Given the description of an element on the screen output the (x, y) to click on. 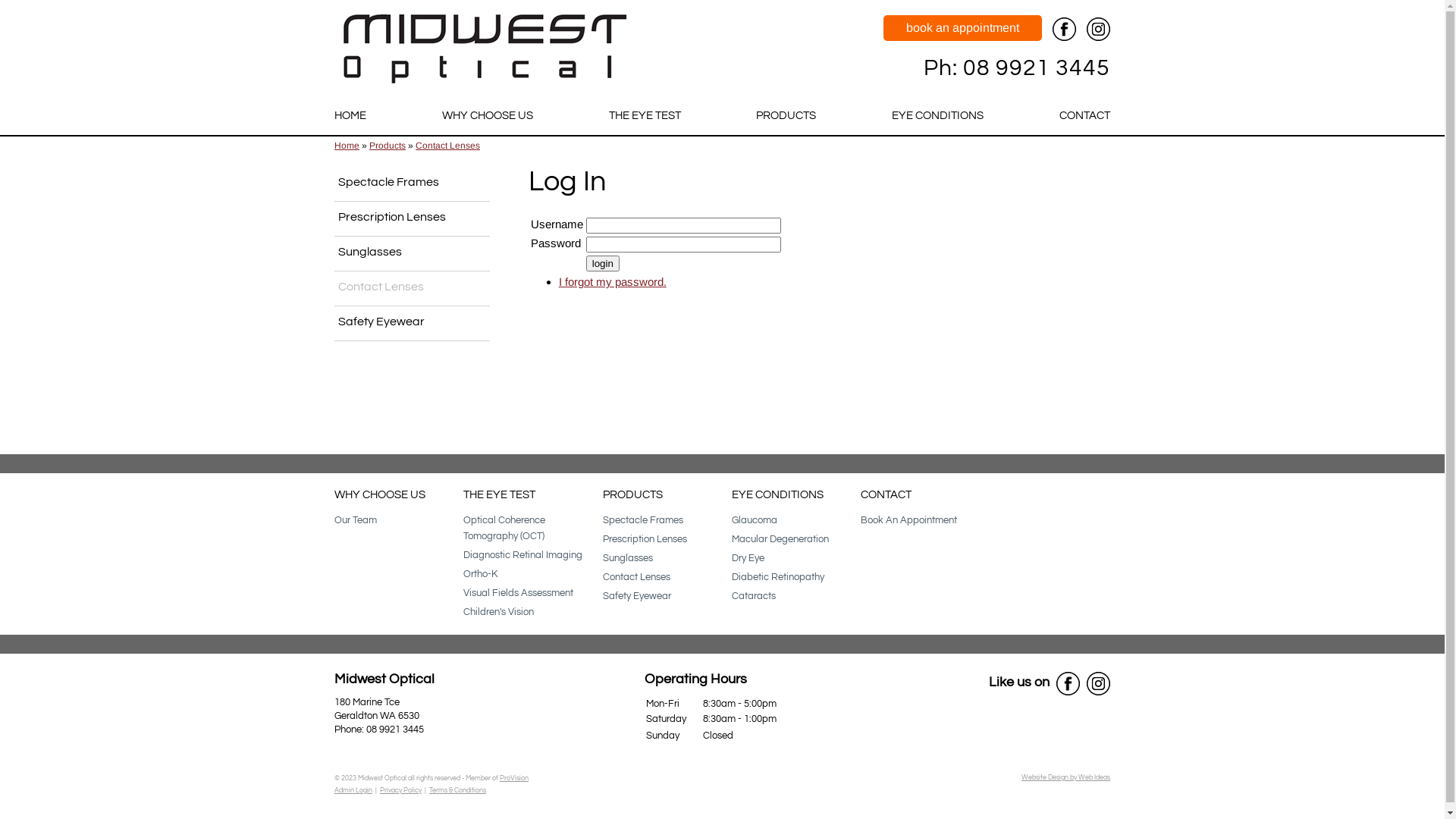
Prescription Lenses Element type: text (644, 538)
Home Element type: text (346, 145)
Cataracts Element type: text (753, 595)
Diagnostic Retinal Imaging Element type: text (522, 554)
Admin Login Element type: text (353, 790)
Our Team Element type: text (355, 519)
Children's Vision Element type: text (498, 611)
Sunglasses Element type: text (627, 557)
Safety Eyewear Element type: text (636, 595)
Prescription Lenses Element type: text (411, 218)
Visual Fields Assessment Element type: text (518, 592)
login Element type: text (602, 263)
Spectacle Frames Element type: text (411, 183)
Ortho-K Element type: text (480, 573)
Optical Coherence Tomography (OCT) Element type: text (504, 527)
WHY CHOOSE US Element type: text (487, 115)
THE EYE TEST Element type: text (644, 115)
Privacy Policy Element type: text (400, 790)
PRODUCTS Element type: text (632, 494)
08 9921 3445 Element type: text (394, 729)
Terms & Conditions Element type: text (457, 790)
Spectacle Frames Element type: text (642, 519)
EYE CONDITIONS Element type: text (937, 115)
Book An Appointment Element type: text (908, 519)
THE EYE TEST Element type: text (499, 494)
Contact Lenses Element type: text (411, 288)
Ph: 08 9921 3445 Element type: text (1016, 67)
Contact Lenses Element type: text (447, 145)
Macular Degeneration Element type: text (779, 538)
HOME Element type: text (353, 115)
CONTACT Element type: text (885, 494)
ProVision Element type: text (513, 778)
Products Element type: text (387, 145)
PRODUCTS Element type: text (785, 115)
EYE CONDITIONS Element type: text (777, 494)
Website Design by Web Ideas Element type: text (1065, 777)
Safety Eyewear Element type: text (411, 323)
WHY CHOOSE US Element type: text (379, 494)
CONTACT Element type: text (1081, 115)
Sunglasses Element type: text (411, 253)
Diabetic Retinopathy Element type: text (777, 576)
Dry Eye Element type: text (747, 557)
Glaucoma Element type: text (754, 519)
Contact Lenses Element type: text (636, 576)
I forgot my password. Element type: text (612, 281)
